Given the description of an element on the screen output the (x, y) to click on. 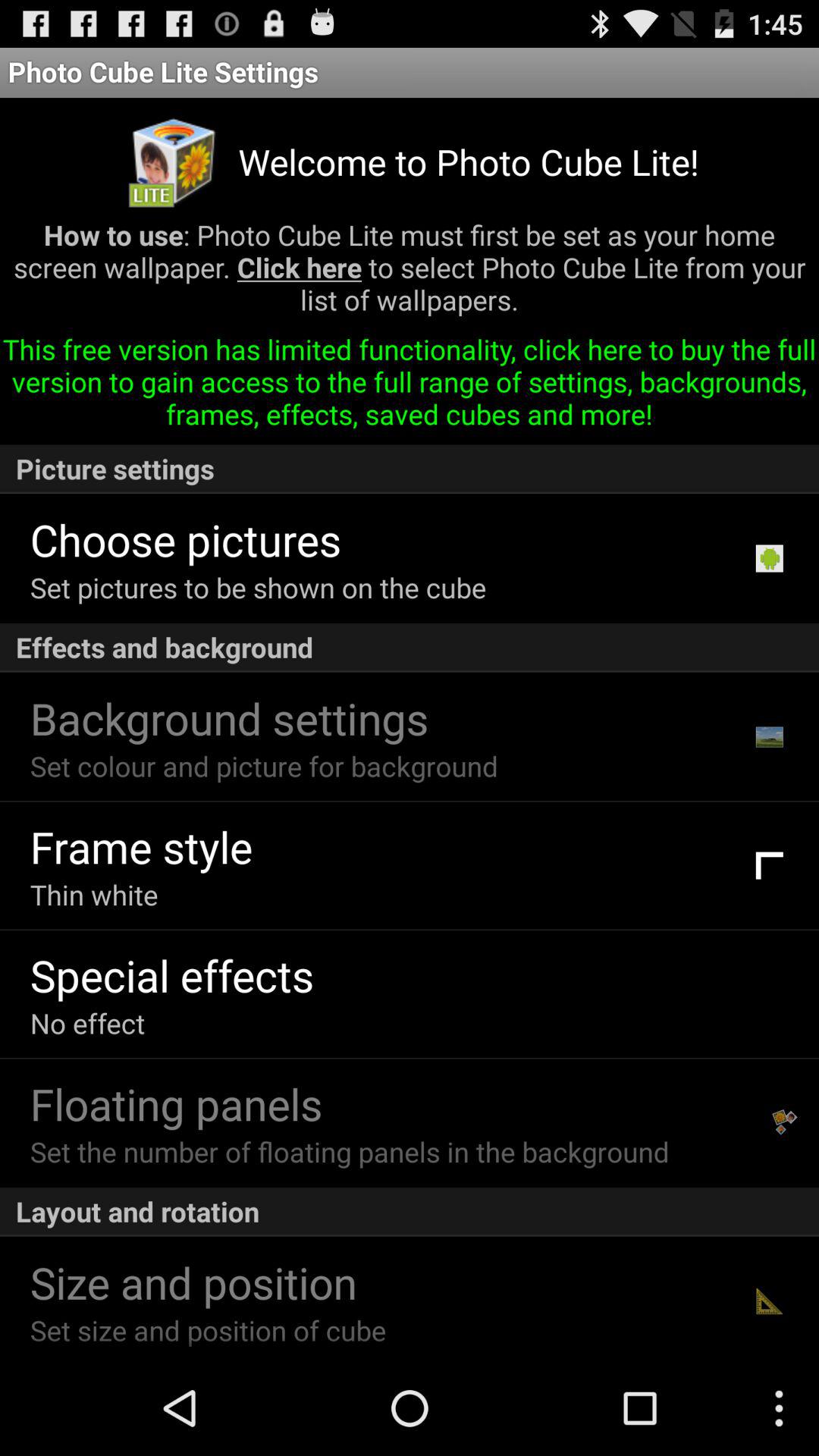
tap the icon above effects and background item (769, 558)
